Given the description of an element on the screen output the (x, y) to click on. 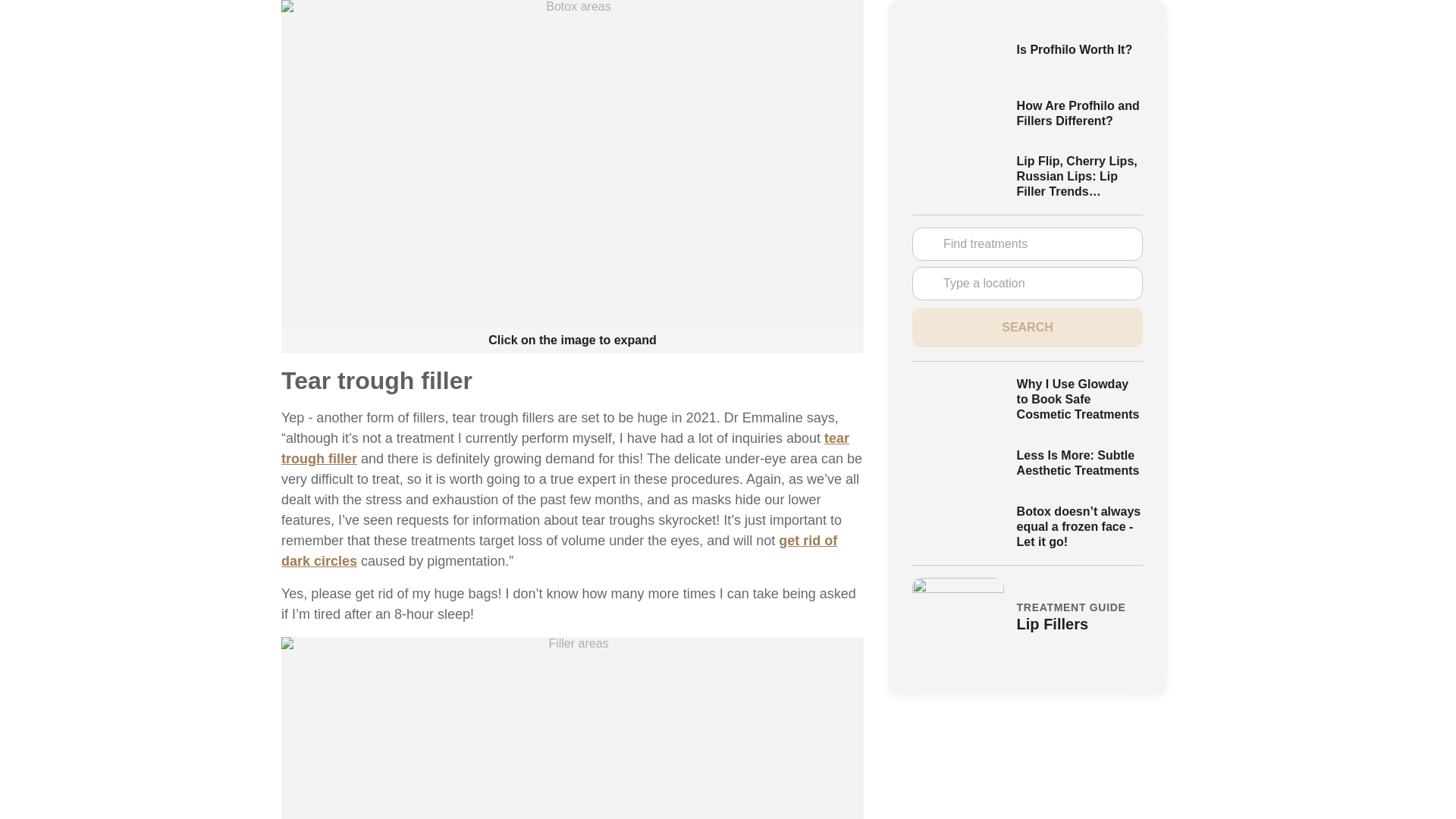
tear trough filler (564, 448)
expand the image (572, 728)
get rid of dark circles (559, 550)
